Given the description of an element on the screen output the (x, y) to click on. 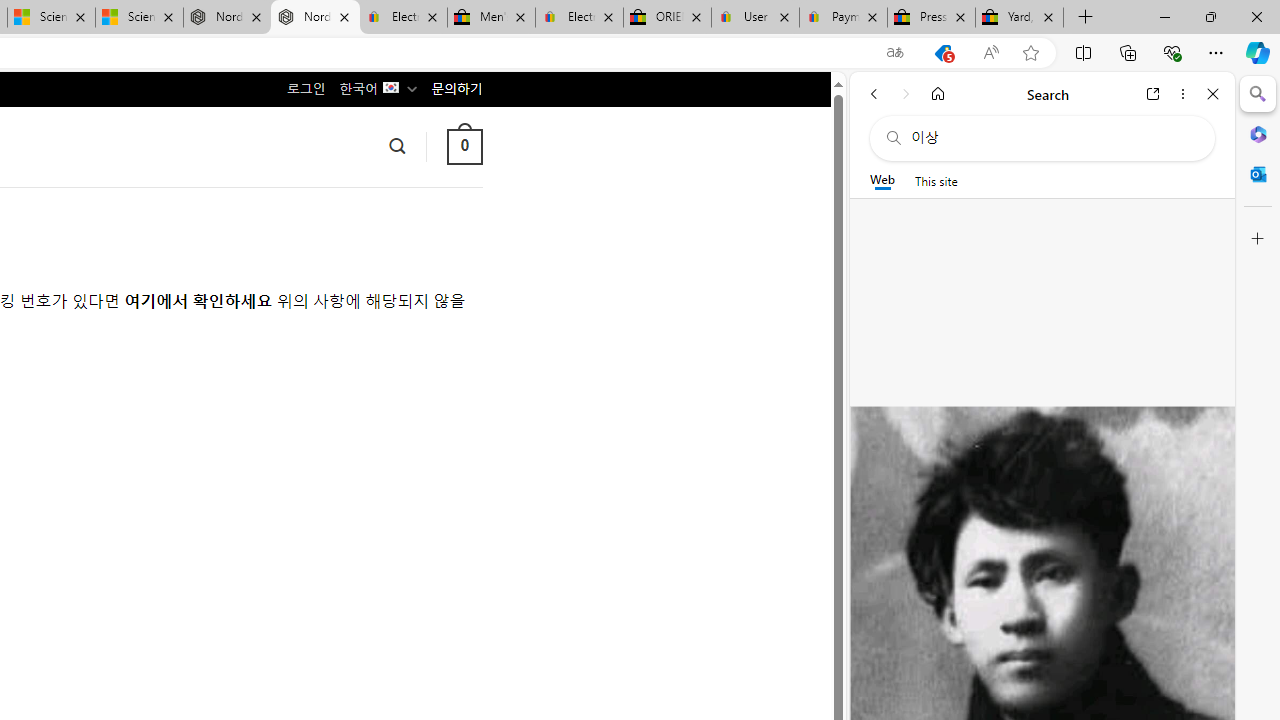
Nordace - Summer Adventures 2024 (227, 17)
This site scope (936, 180)
